Given the description of an element on the screen output the (x, y) to click on. 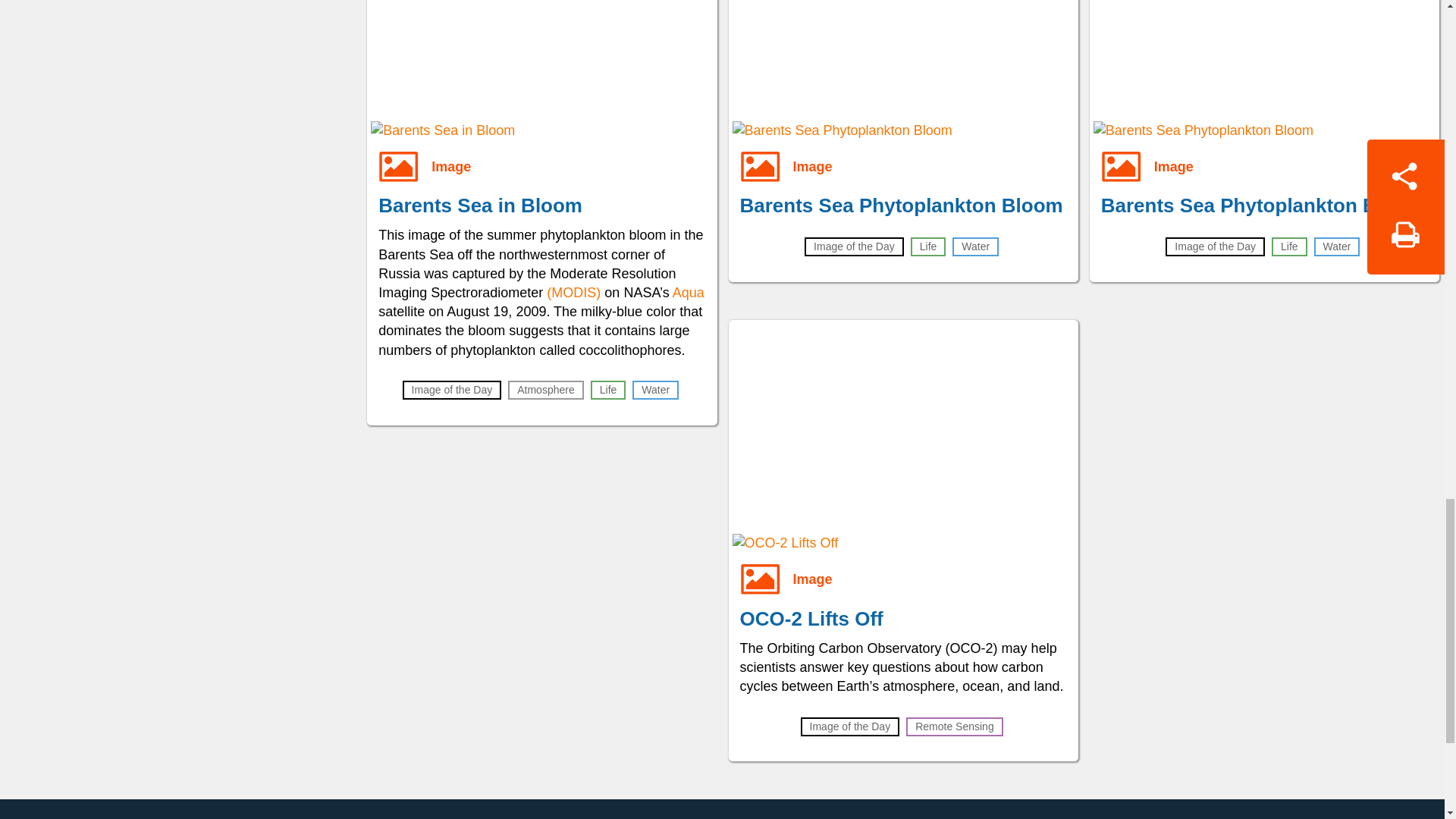
Twitter (761, 814)
Earth Observatory (369, 814)
Facebook (689, 814)
RSS (977, 814)
Subscribe (905, 814)
Instagram (833, 814)
